Given the description of an element on the screen output the (x, y) to click on. 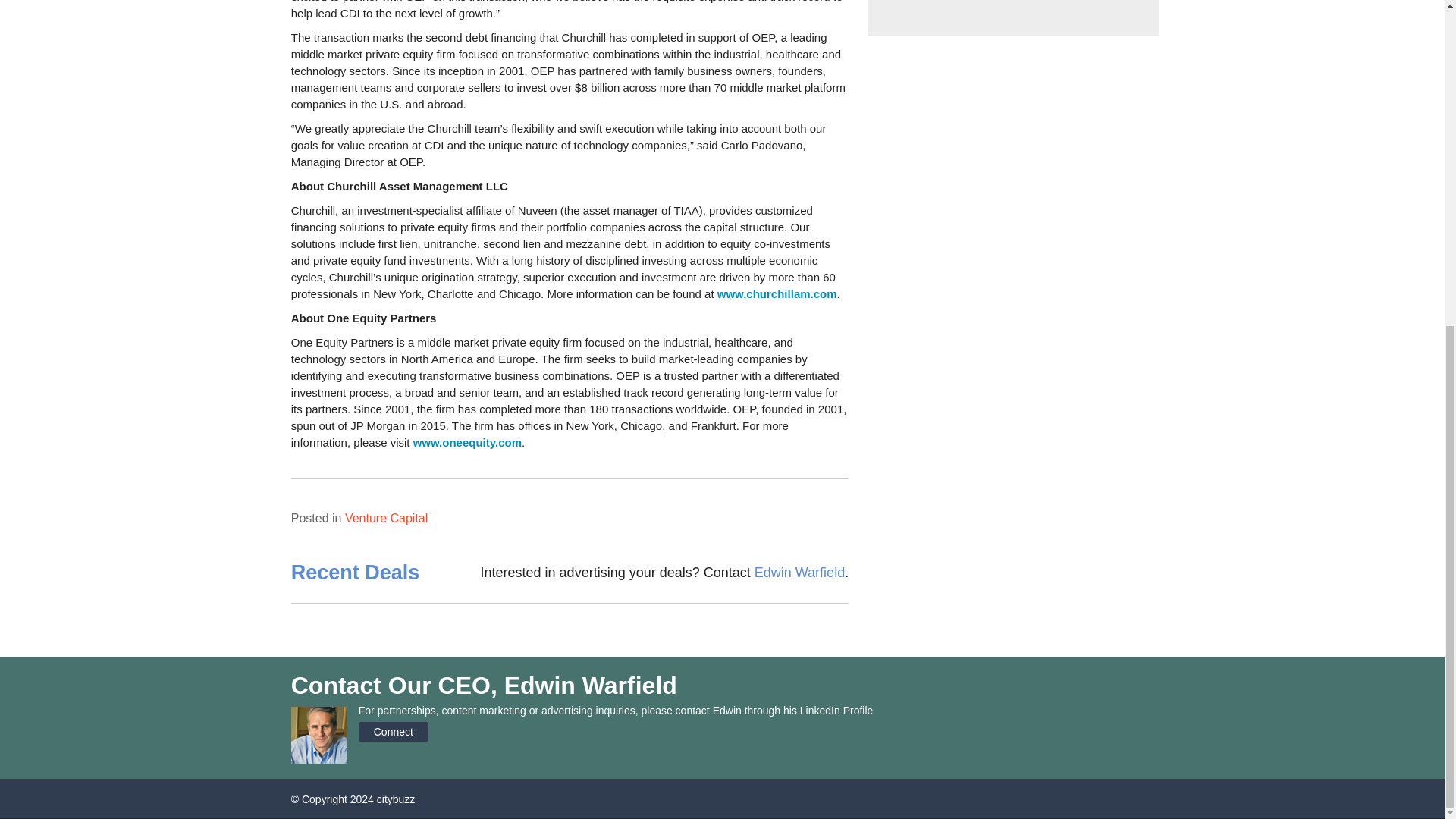
Venture Capital (386, 517)
Connect (393, 731)
www.oneequity.com (467, 441)
www.churchillam.com (777, 293)
Edwin Warfield (799, 572)
